Given the description of an element on the screen output the (x, y) to click on. 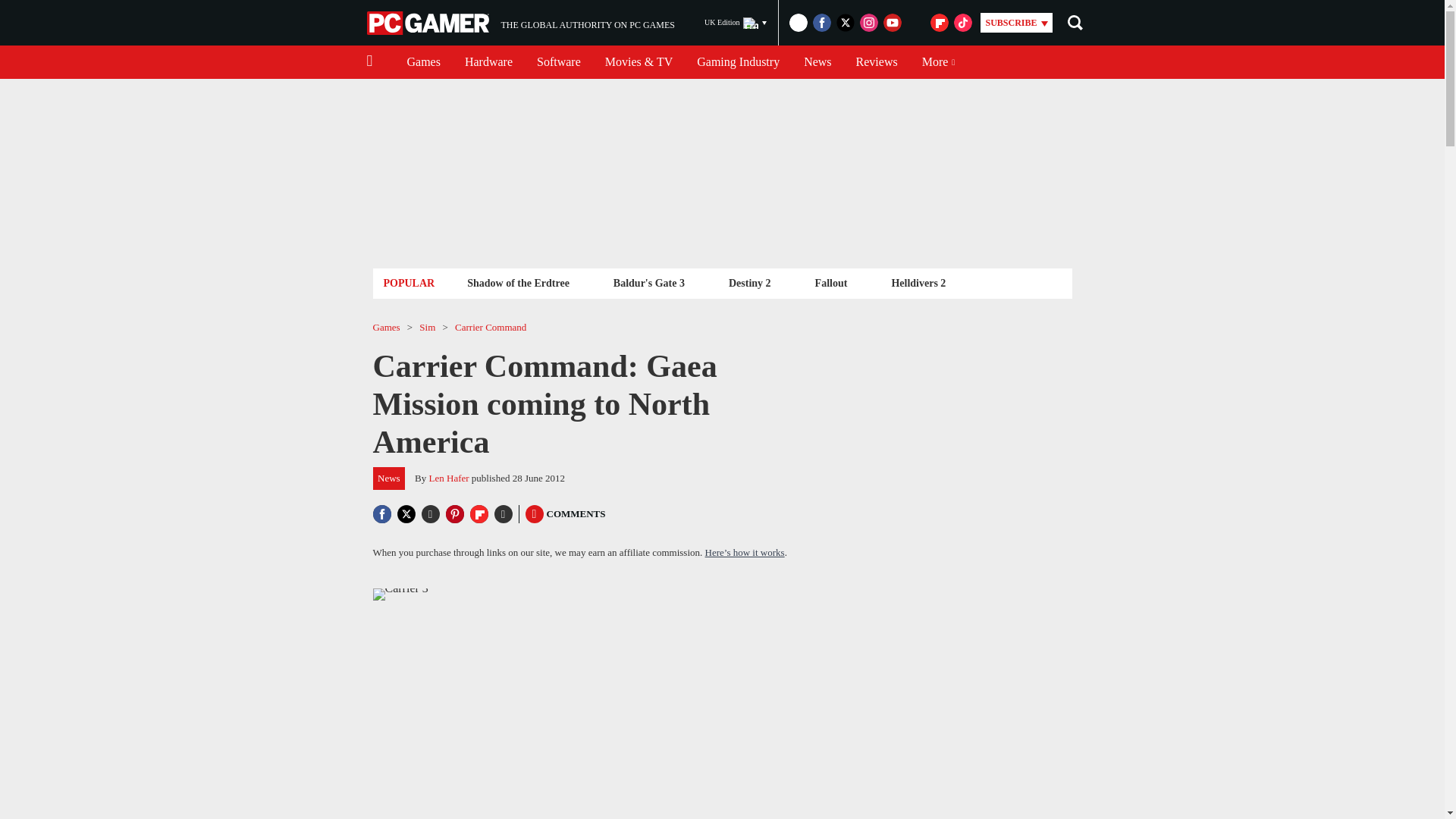
Baldur's Gate 3 (649, 282)
Software (558, 61)
News (817, 61)
Shadow of the Erdtree (520, 22)
Hardware (518, 282)
Games (488, 61)
Gaming Industry (422, 61)
UK Edition (738, 61)
PC Gamer (735, 22)
Reviews (429, 22)
